Given the description of an element on the screen output the (x, y) to click on. 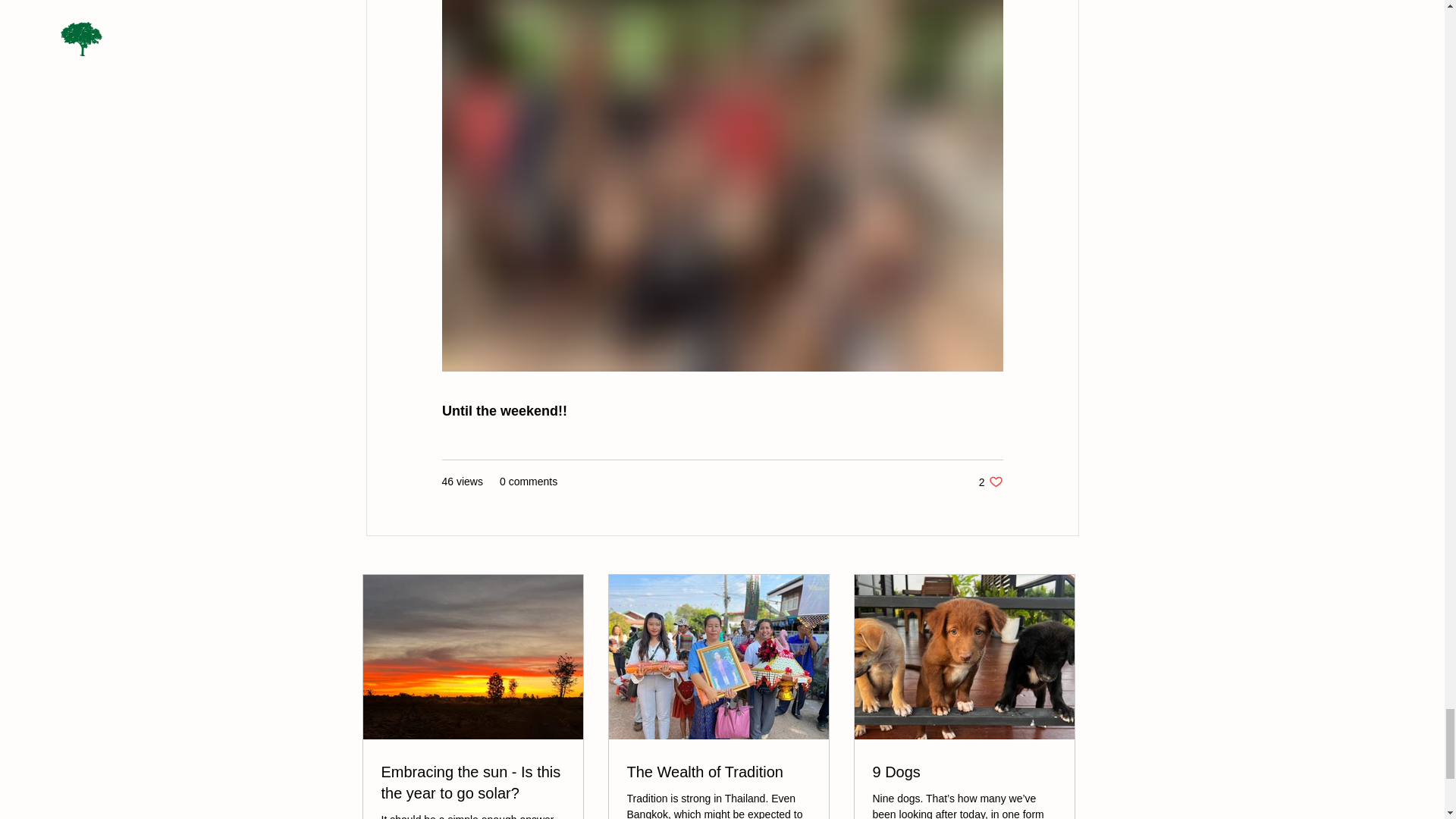
Embracing the sun - Is this the year to go solar? (472, 782)
9 Dogs (963, 771)
The Wealth of Tradition (717, 771)
